Given the description of an element on the screen output the (x, y) to click on. 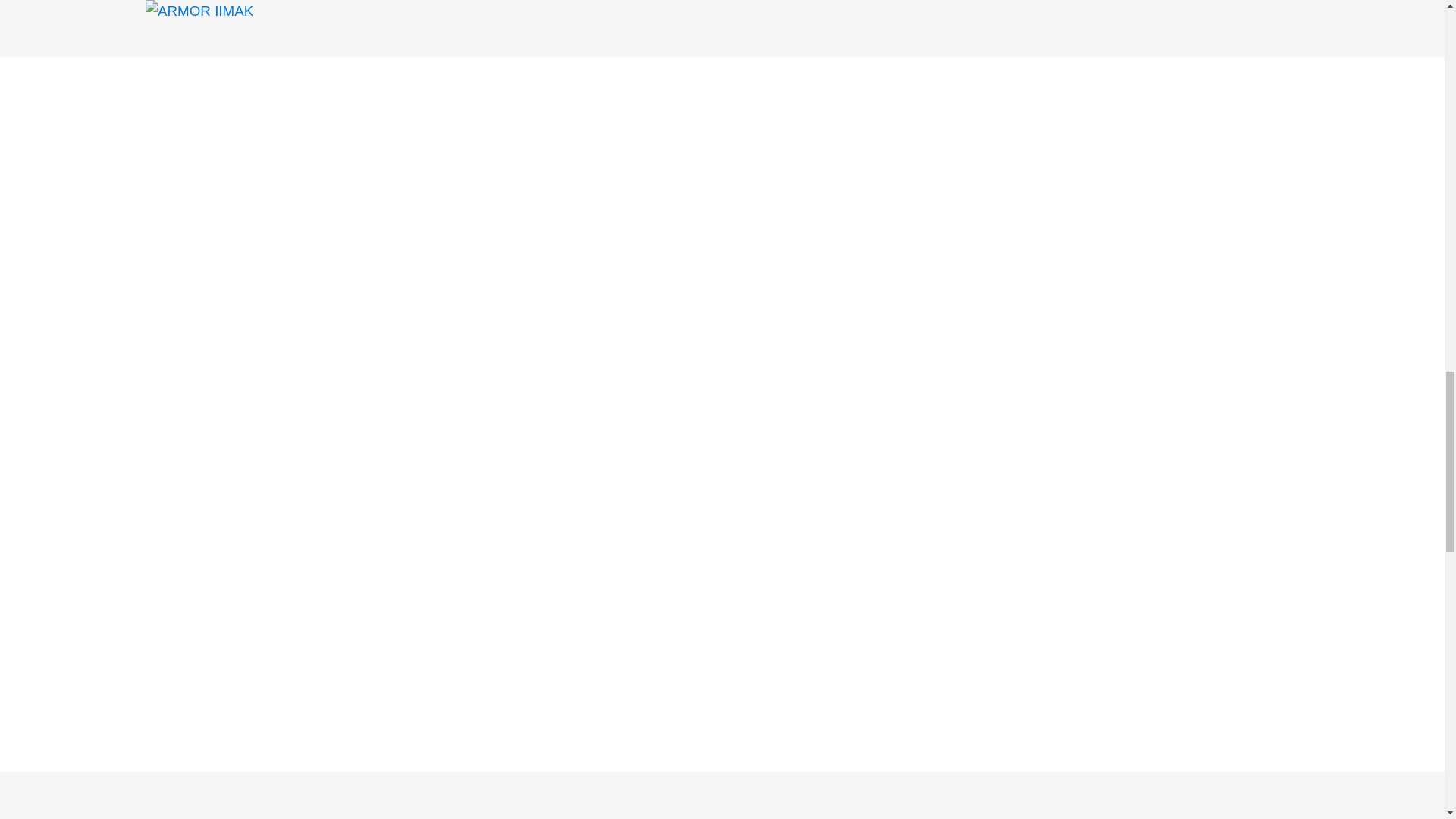
AWR 1 (203, 393)
GP 725 i55 (214, 558)
For this application, we recommend the following products: (523, 347)
AWX FH (207, 489)
GP 725 i25 (214, 523)
Contact us (257, 735)
APR 400 (208, 593)
AWR 8 (203, 427)
Why using thermal transfer technology for this application ? (523, 158)
Thermal Transfer Technology Solutions for Food Crate Labels (523, 210)
